Given the description of an element on the screen output the (x, y) to click on. 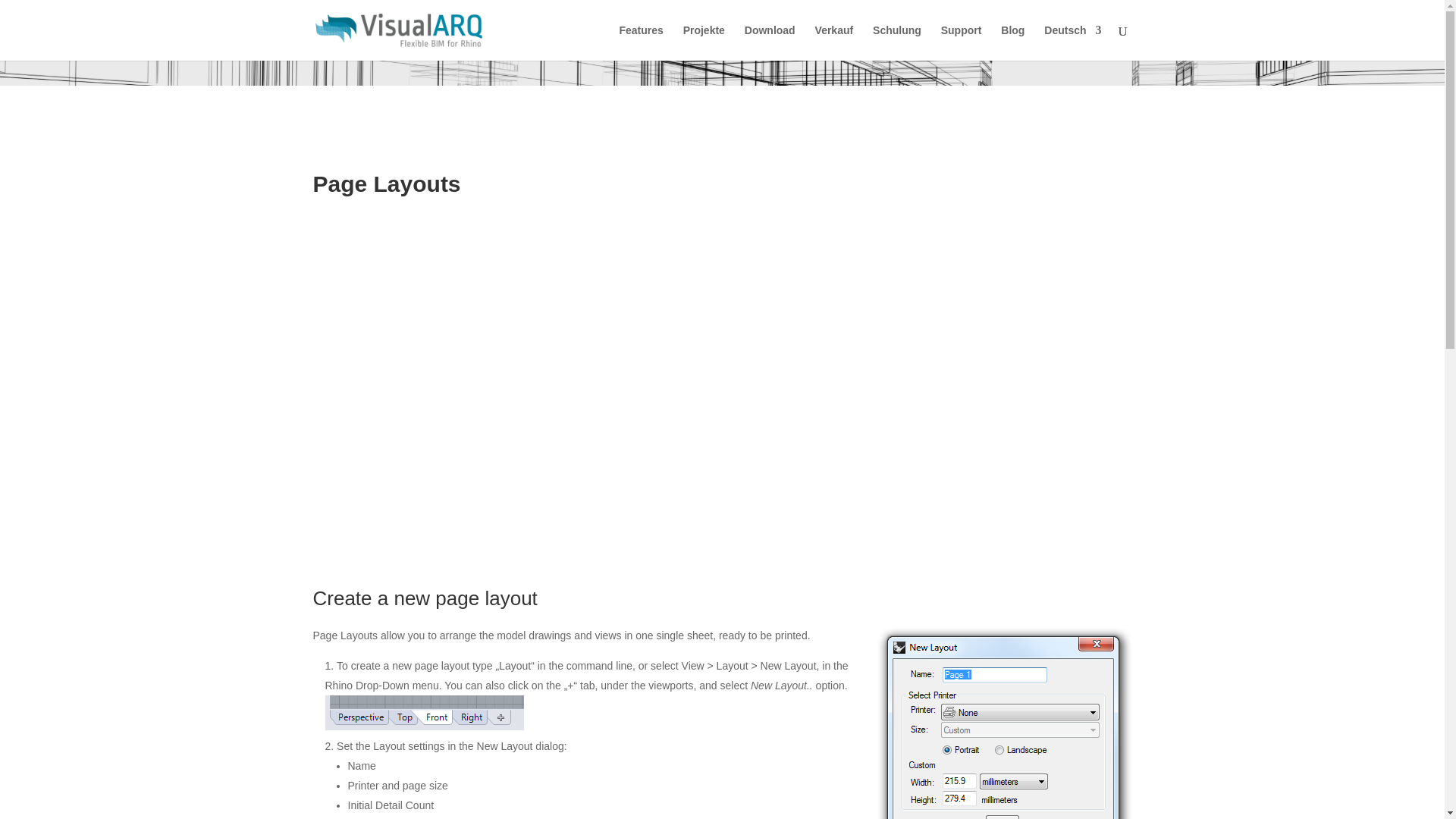
Verkauf (834, 42)
Projekte (703, 42)
Support (960, 42)
Deutsch (1071, 42)
Features (640, 42)
Schulung (896, 42)
Deutsch (1071, 42)
Download (769, 42)
